Given the description of an element on the screen output the (x, y) to click on. 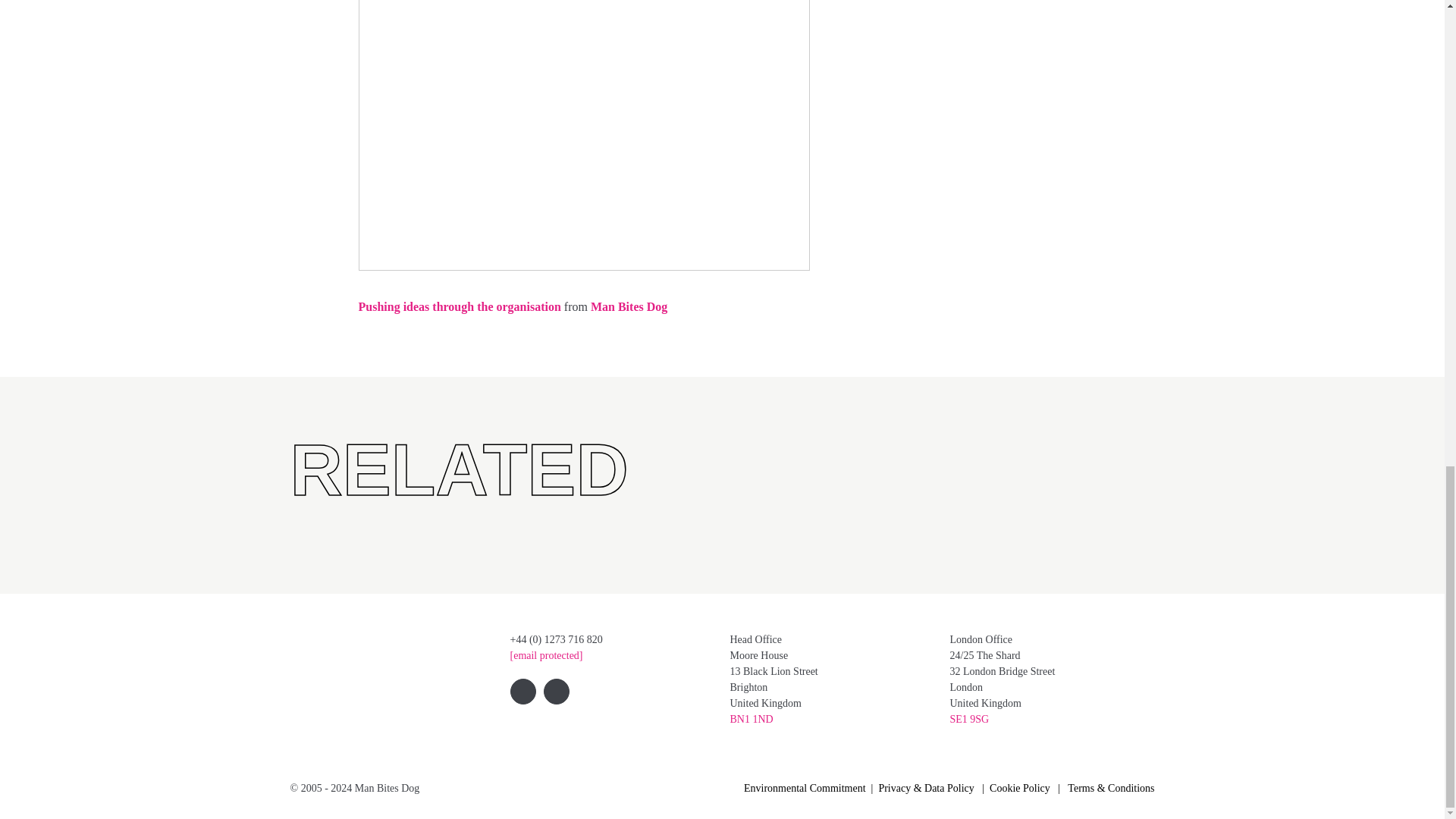
Environmental Commitment (805, 787)
Cookie Policy (1019, 787)
Pushing ideas through the organisation (459, 306)
BN1 1ND (751, 718)
Pushing ideas through the organisation (459, 306)
SE1 9SG (968, 718)
Man Bites Dog (628, 306)
